Given the description of an element on the screen output the (x, y) to click on. 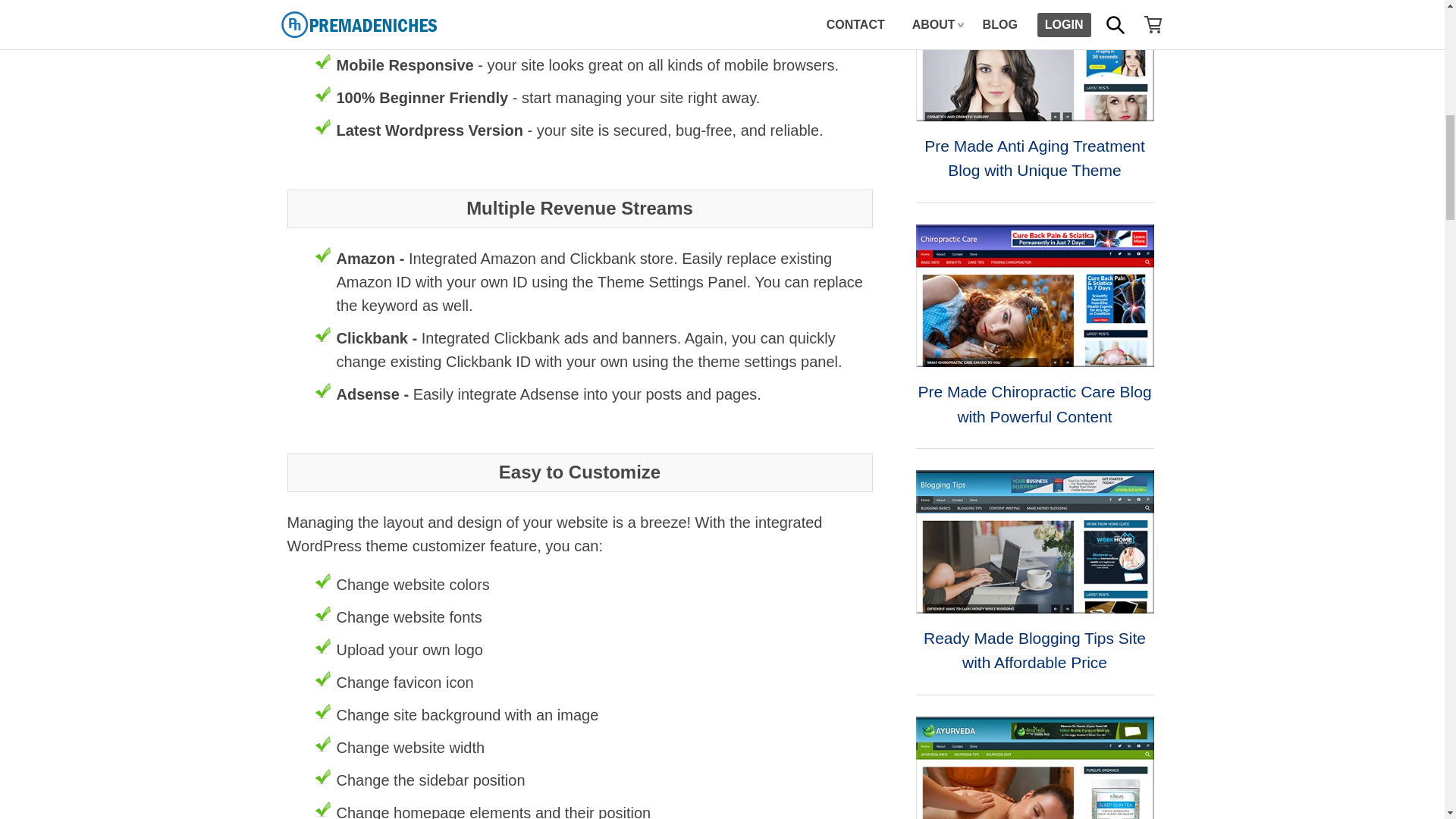
Ready Made Blogging Tips Site with Affordable Price (1034, 541)
Pre Made Anti Aging Treatment Blog with Unique Theme (1034, 60)
Ready Made Ayurveda Blog with Ready to Sell eBook (1034, 767)
Pre Made Chiropractic Care Blog with Powerful Content (1034, 295)
